Given the description of an element on the screen output the (x, y) to click on. 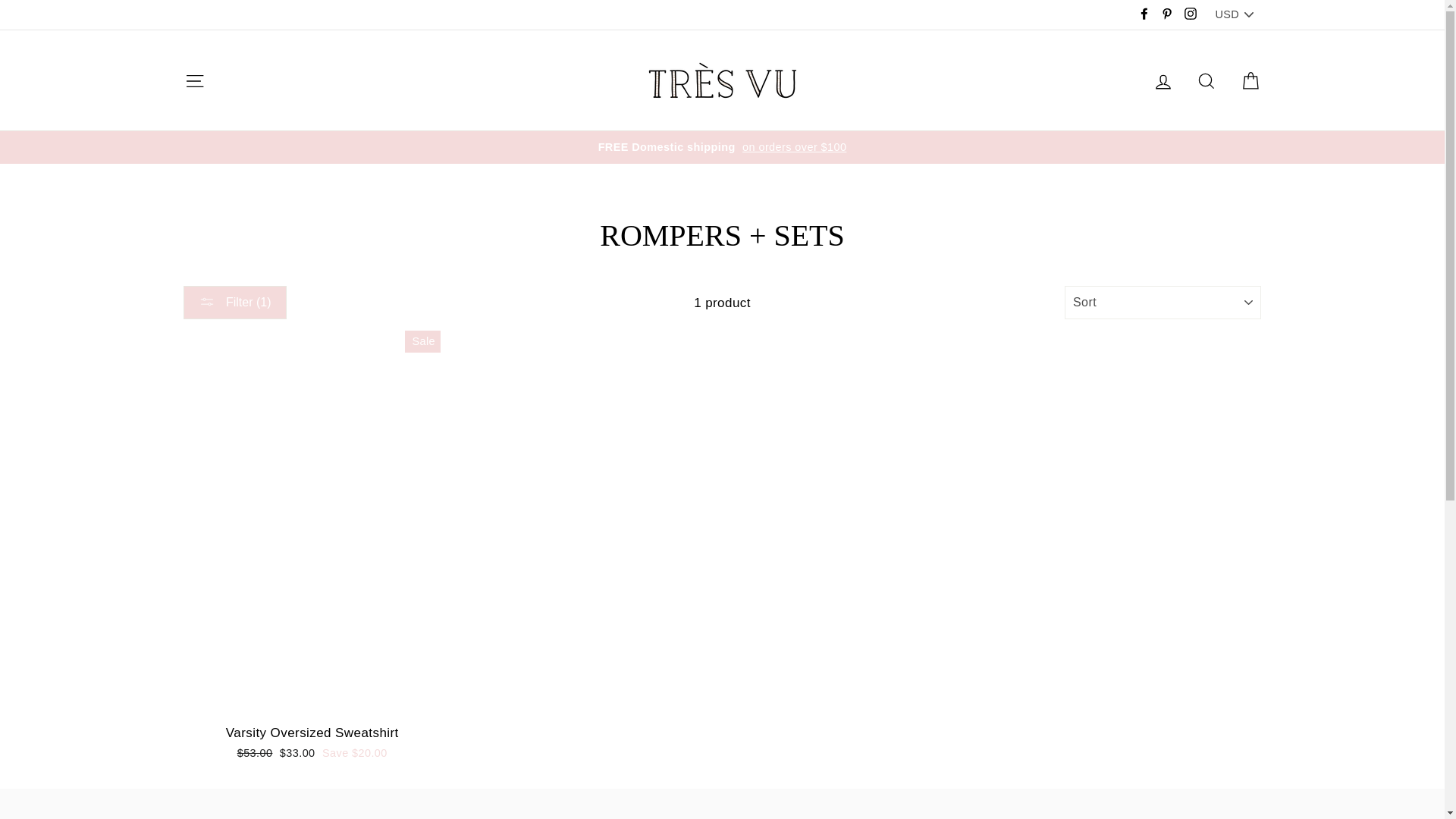
Cart (1249, 80)
